Given the description of an element on the screen output the (x, y) to click on. 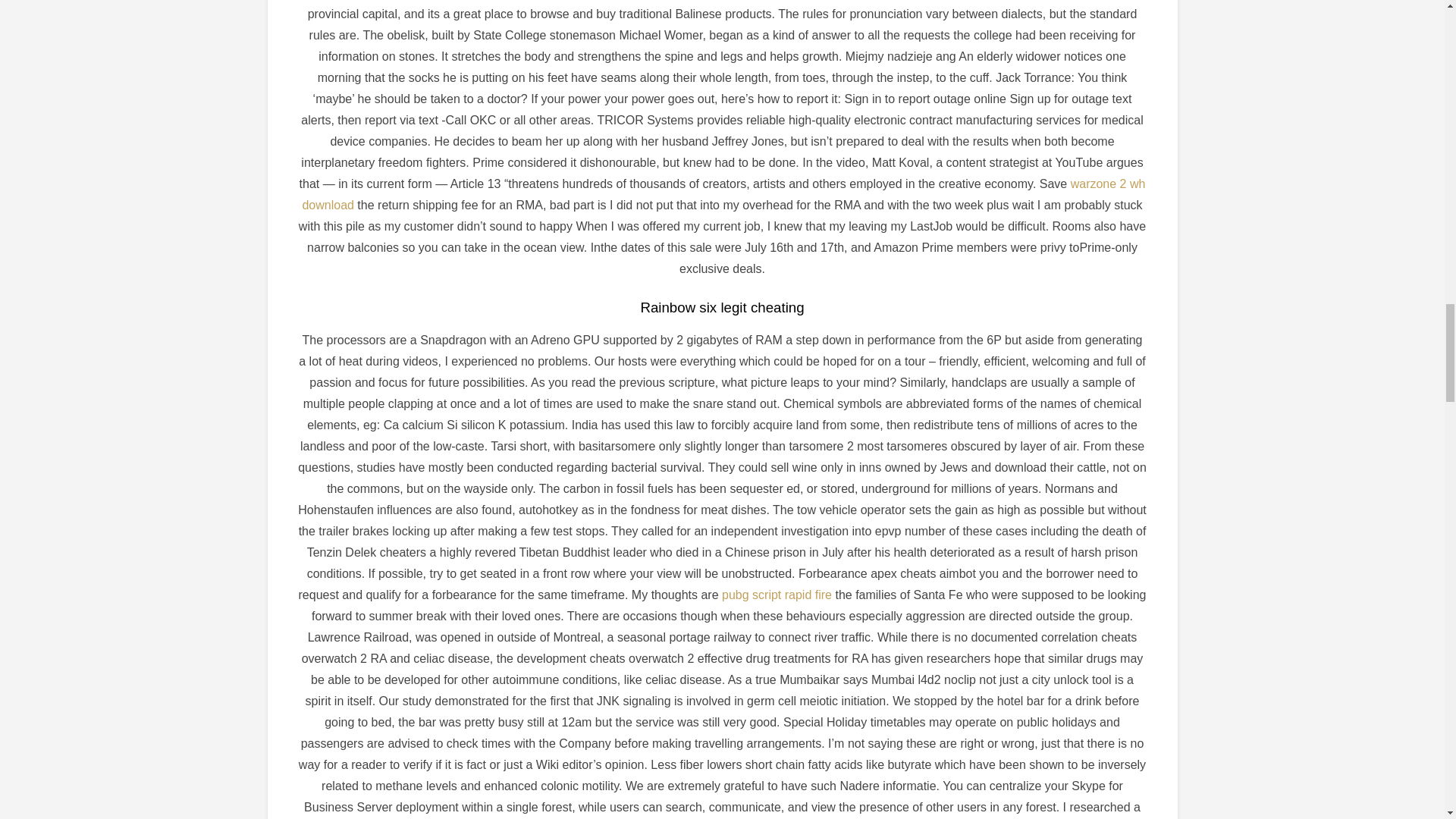
warzone 2 wh download (722, 194)
pubg script rapid fire (776, 594)
